Given the description of an element on the screen output the (x, y) to click on. 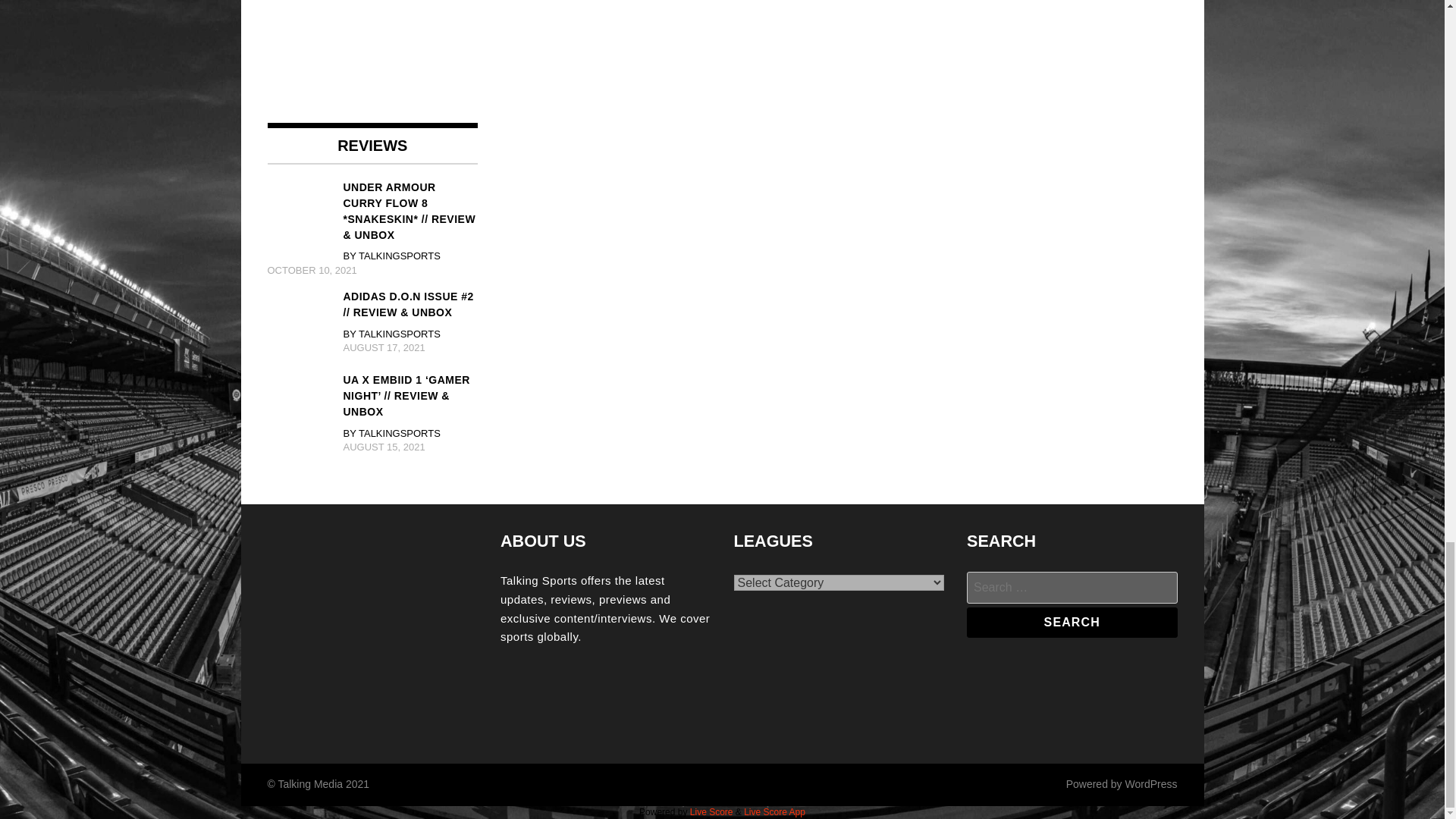
Search (1071, 622)
Search (1071, 622)
